Given the description of an element on the screen output the (x, y) to click on. 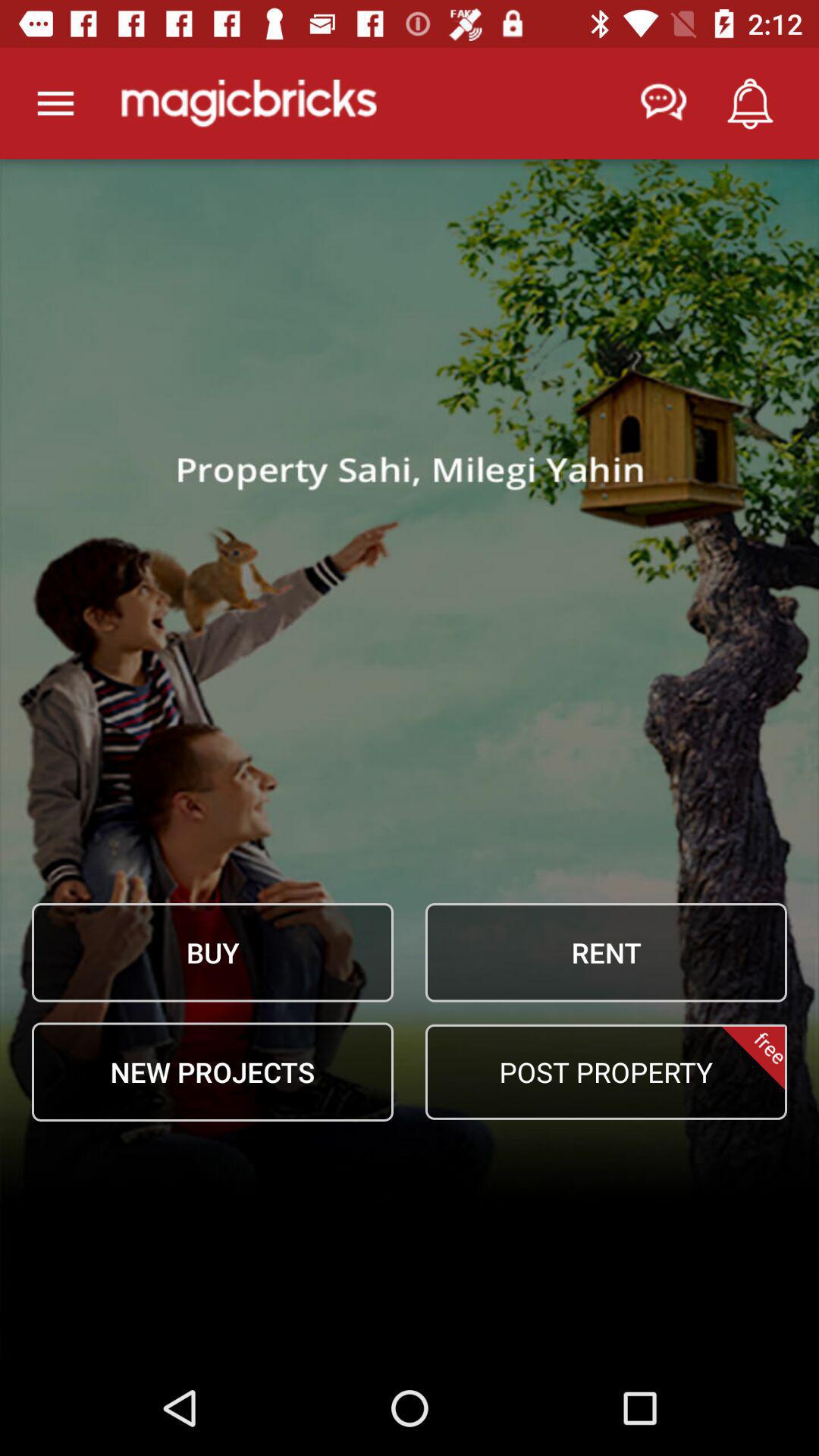
tap icon next to buy item (606, 952)
